Given the description of an element on the screen output the (x, y) to click on. 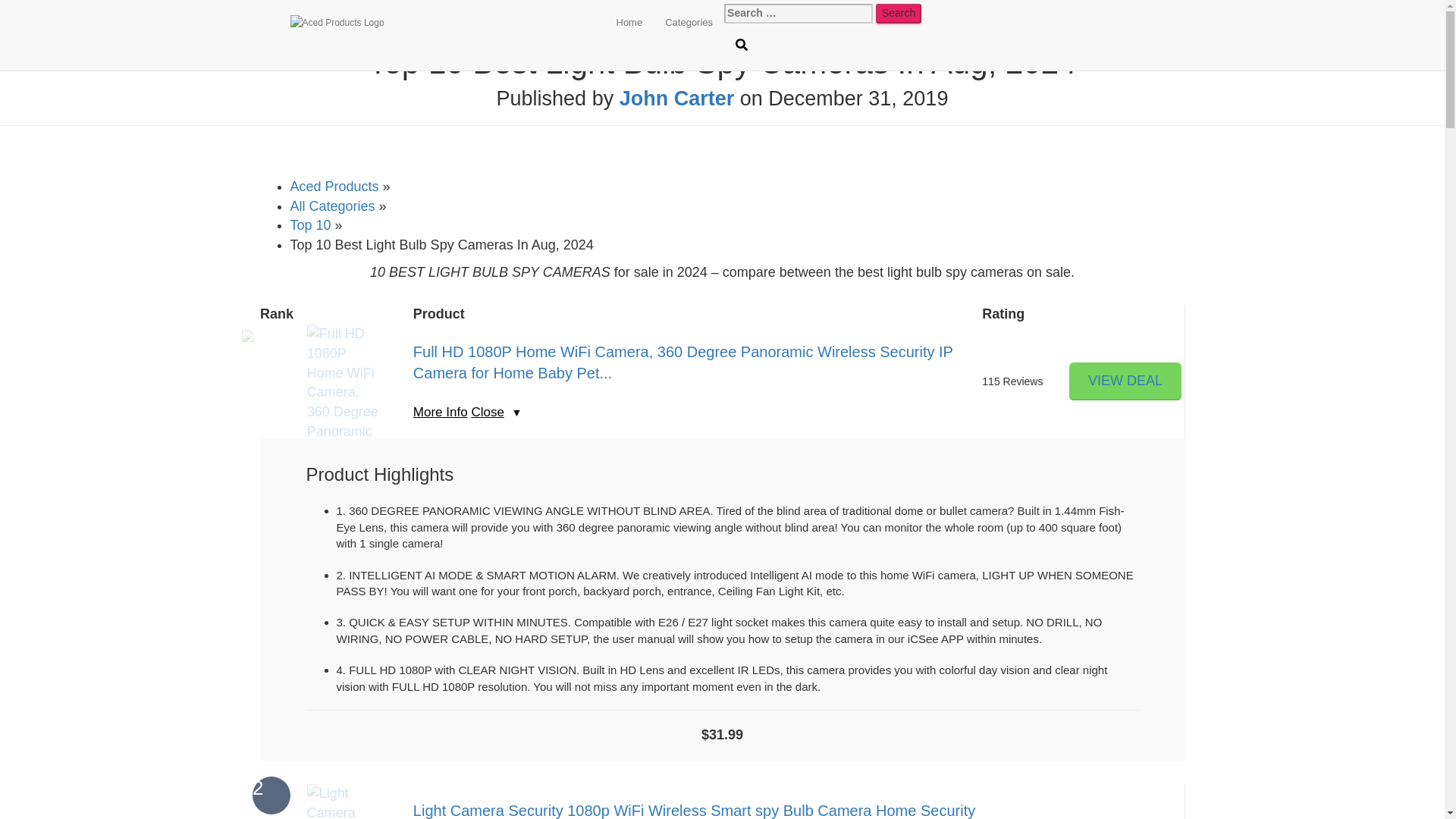
Top 10 (309, 224)
Categories (688, 22)
Aced Products (442, 22)
Home (629, 22)
Aced Products (333, 186)
John Carter (677, 97)
